Given the description of an element on the screen output the (x, y) to click on. 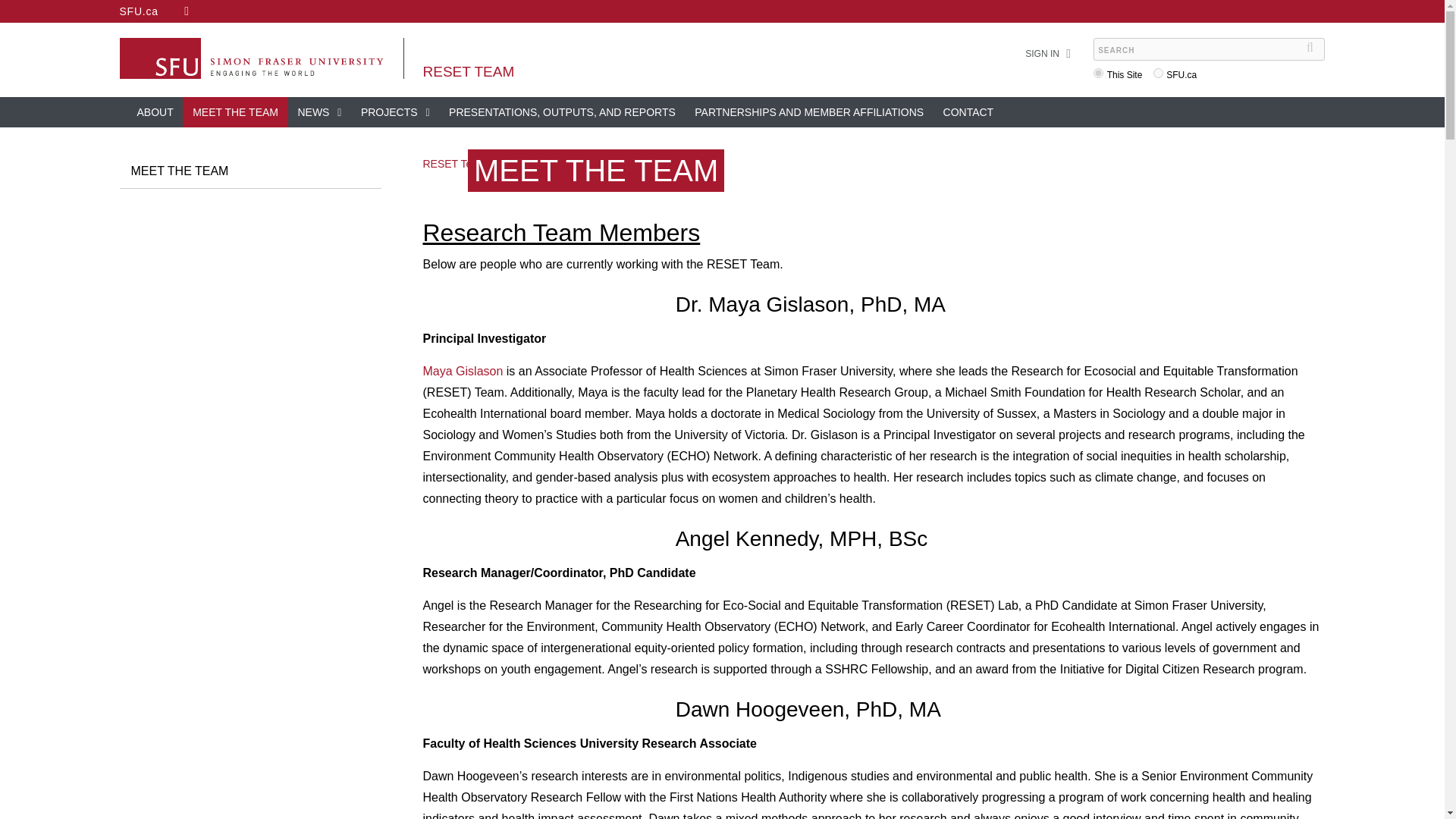
RESET TEAM (469, 71)
site (1098, 72)
CONTACT (968, 111)
PROJECTS (394, 112)
sfu (1158, 72)
PRESENTATIONS, OUTPUTS, AND REPORTS (562, 111)
SIGN IN (1042, 53)
PARTNERSHIPS AND MEMBER AFFILIATIONS (808, 111)
NEWS (318, 112)
SFU.ca (138, 10)
